Given the description of an element on the screen output the (x, y) to click on. 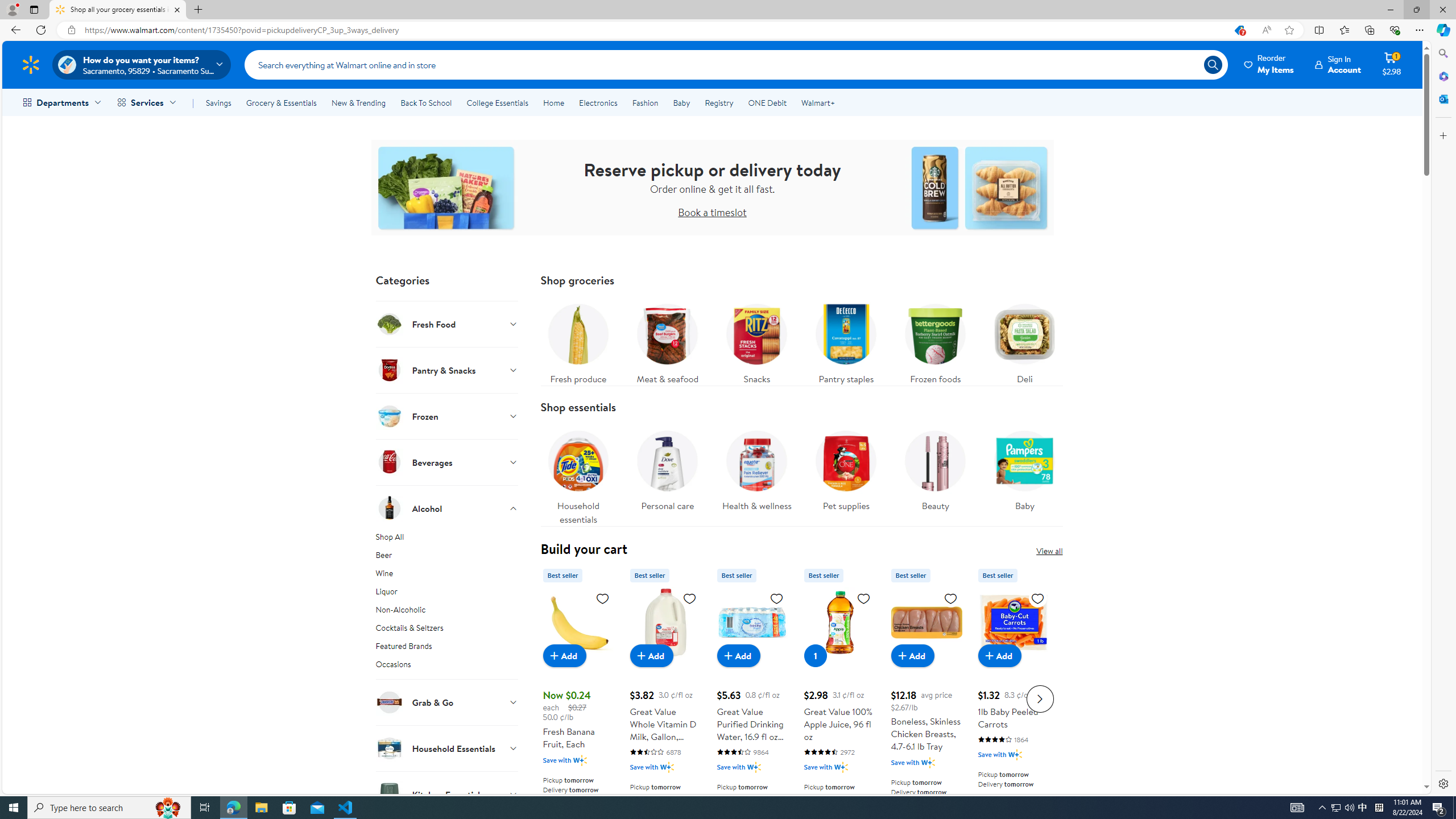
Personal care (667, 467)
New Tab (198, 9)
Non-Alcoholic (446, 611)
New & Trending (358, 102)
Occasions (446, 668)
Meat & seafood (667, 340)
Add to cart - 1lb Baby Peeled Carrots (999, 655)
Add this page to favorites (Ctrl+D) (1289, 29)
1lb Baby Peeled Carrots (1012, 621)
Beer (446, 557)
